Given the description of an element on the screen output the (x, y) to click on. 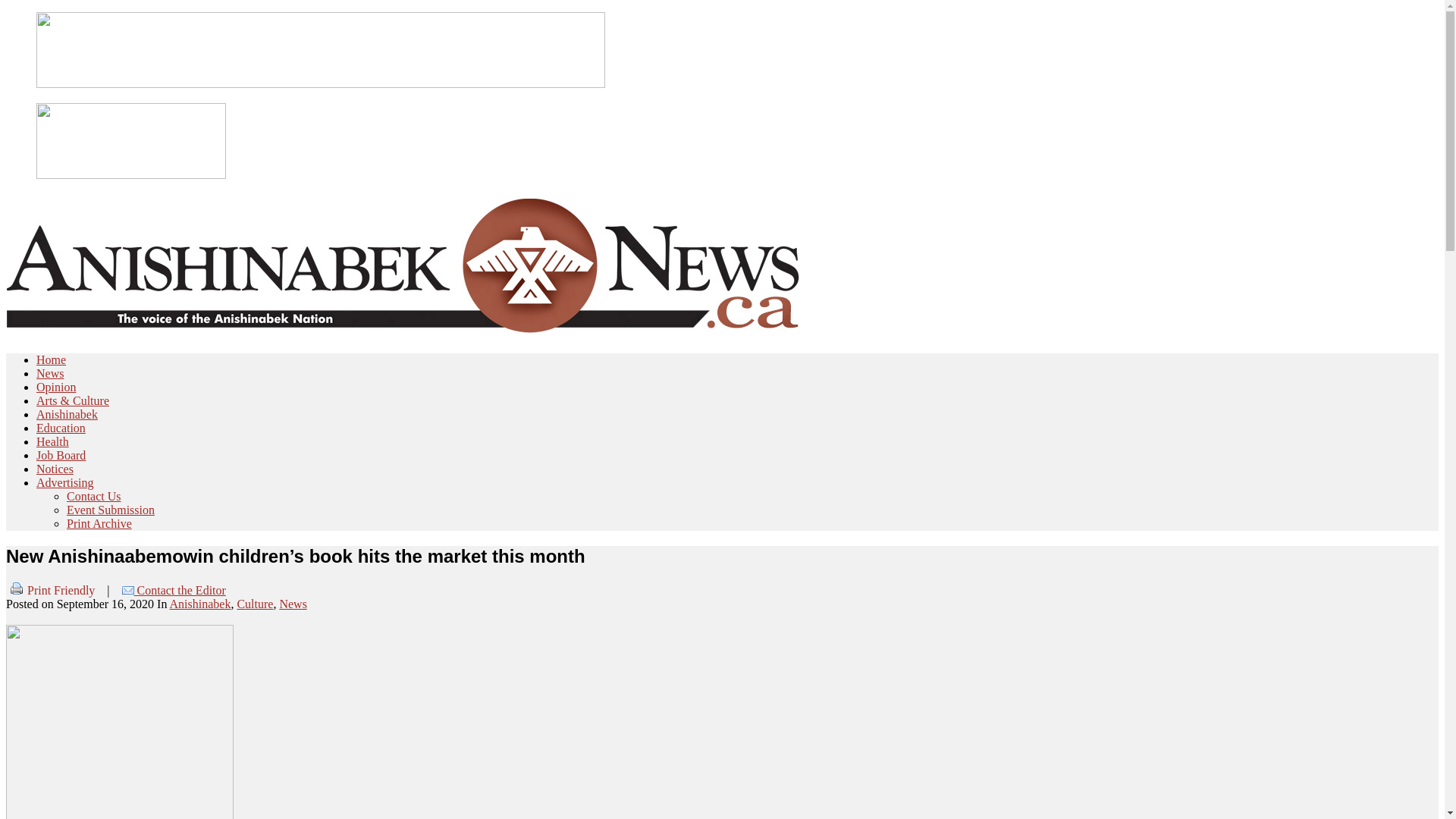
Event Submission Element type: text (110, 509)
Arts & Culture Element type: text (72, 400)
Culture Element type: text (254, 603)
Print Archive Element type: text (98, 523)
Opinion Element type: text (55, 386)
 Contact the Editor Element type: text (173, 589)
News Element type: text (292, 603)
Anishinabek Element type: text (66, 413)
Education Element type: text (60, 427)
Health Element type: text (52, 441)
Advertising Element type: text (65, 482)
Print Friendly Element type: text (50, 589)
Notices Element type: text (54, 468)
Contact Us Element type: text (93, 495)
News Element type: text (49, 373)
Anishinabek Element type: text (200, 603)
Home Element type: text (50, 359)
Job Board Element type: text (60, 454)
